Given the description of an element on the screen output the (x, y) to click on. 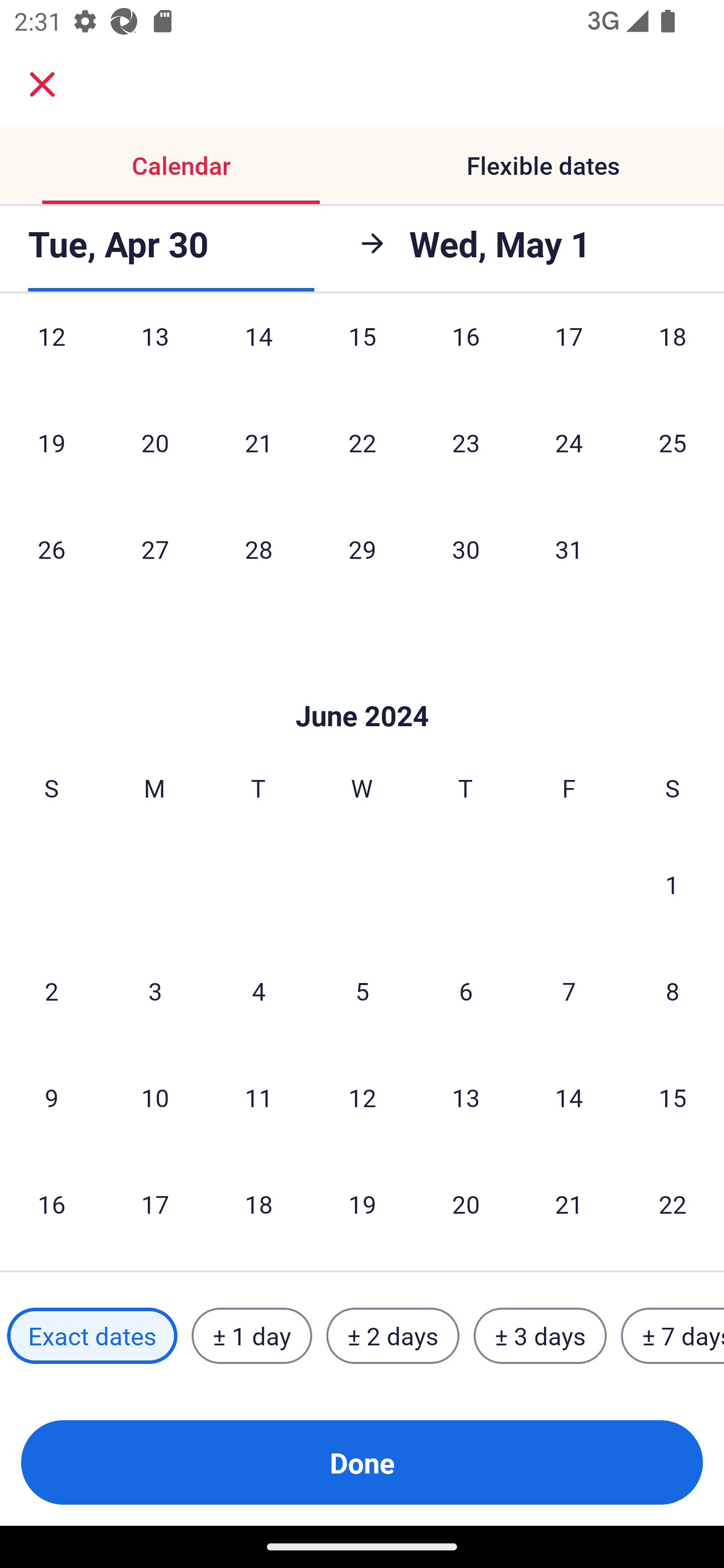
close. (42, 84)
Flexible dates (542, 164)
12 Sunday, May 12, 2024 (51, 354)
13 Monday, May 13, 2024 (155, 354)
14 Tuesday, May 14, 2024 (258, 354)
15 Wednesday, May 15, 2024 (362, 354)
16 Thursday, May 16, 2024 (465, 354)
17 Friday, May 17, 2024 (569, 354)
18 Saturday, May 18, 2024 (672, 354)
19 Sunday, May 19, 2024 (51, 441)
20 Monday, May 20, 2024 (155, 441)
21 Tuesday, May 21, 2024 (258, 441)
22 Wednesday, May 22, 2024 (362, 441)
23 Thursday, May 23, 2024 (465, 441)
24 Friday, May 24, 2024 (569, 441)
25 Saturday, May 25, 2024 (672, 441)
26 Sunday, May 26, 2024 (51, 548)
27 Monday, May 27, 2024 (155, 548)
28 Tuesday, May 28, 2024 (258, 548)
29 Wednesday, May 29, 2024 (362, 548)
30 Thursday, May 30, 2024 (465, 548)
31 Friday, May 31, 2024 (569, 548)
Skip to Done (362, 685)
1 Saturday, June 1, 2024 (672, 884)
2 Sunday, June 2, 2024 (51, 990)
3 Monday, June 3, 2024 (155, 990)
4 Tuesday, June 4, 2024 (258, 990)
5 Wednesday, June 5, 2024 (362, 990)
6 Thursday, June 6, 2024 (465, 990)
7 Friday, June 7, 2024 (569, 990)
8 Saturday, June 8, 2024 (672, 990)
9 Sunday, June 9, 2024 (51, 1097)
10 Monday, June 10, 2024 (155, 1097)
11 Tuesday, June 11, 2024 (258, 1097)
12 Wednesday, June 12, 2024 (362, 1097)
13 Thursday, June 13, 2024 (465, 1097)
14 Friday, June 14, 2024 (569, 1097)
15 Saturday, June 15, 2024 (672, 1097)
16 Sunday, June 16, 2024 (51, 1203)
17 Monday, June 17, 2024 (155, 1203)
18 Tuesday, June 18, 2024 (258, 1203)
19 Wednesday, June 19, 2024 (362, 1203)
20 Thursday, June 20, 2024 (465, 1203)
21 Friday, June 21, 2024 (569, 1203)
22 Saturday, June 22, 2024 (672, 1203)
Exact dates (92, 1335)
± 1 day (251, 1335)
± 2 days (392, 1335)
± 3 days (539, 1335)
± 7 days (672, 1335)
Done (361, 1462)
